Given the description of an element on the screen output the (x, y) to click on. 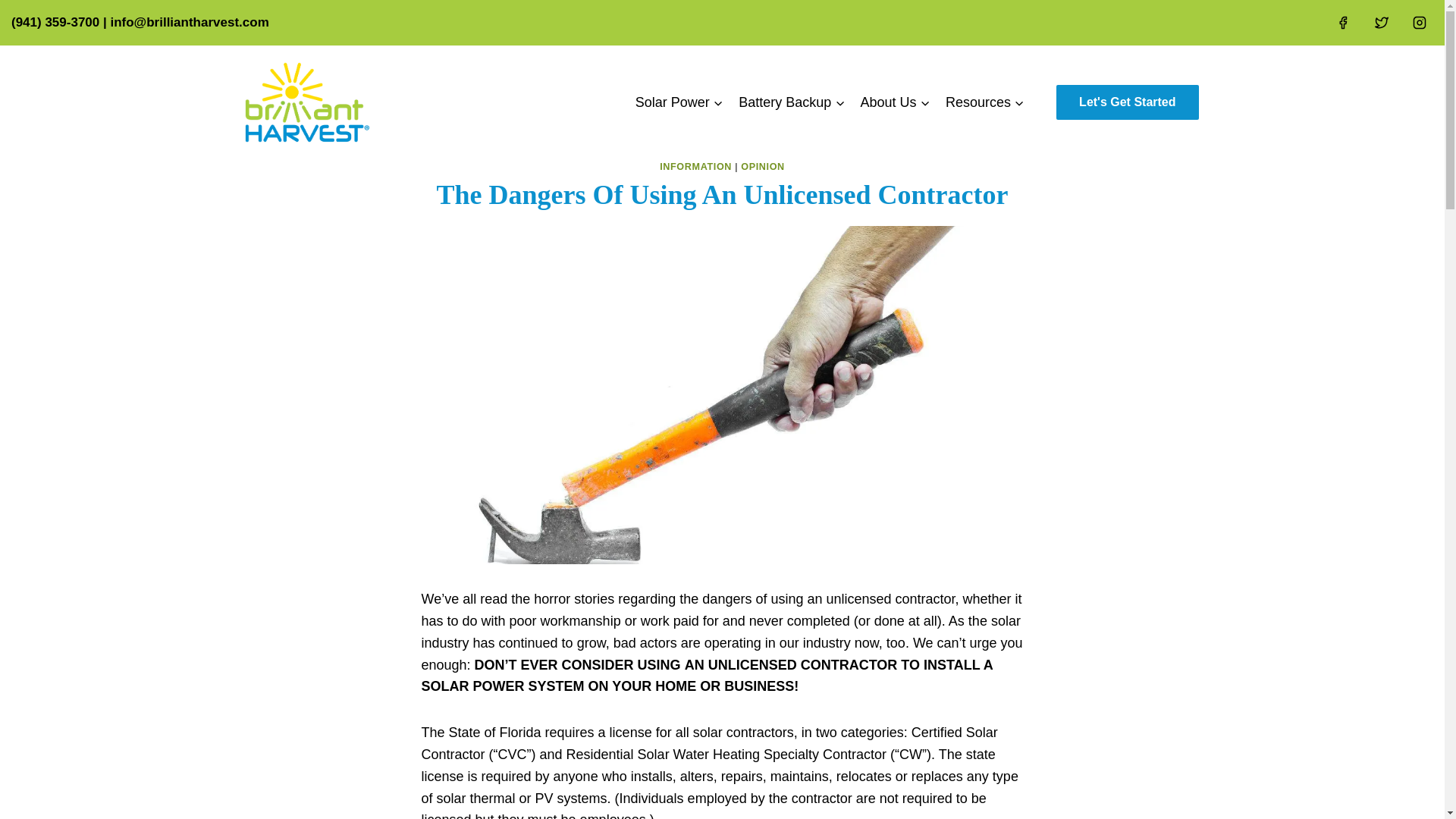
Solar Power (678, 102)
About Us (894, 102)
Resources (984, 102)
Battery Backup (790, 102)
Local Florida Solar Power Resources (984, 102)
